Given the description of an element on the screen output the (x, y) to click on. 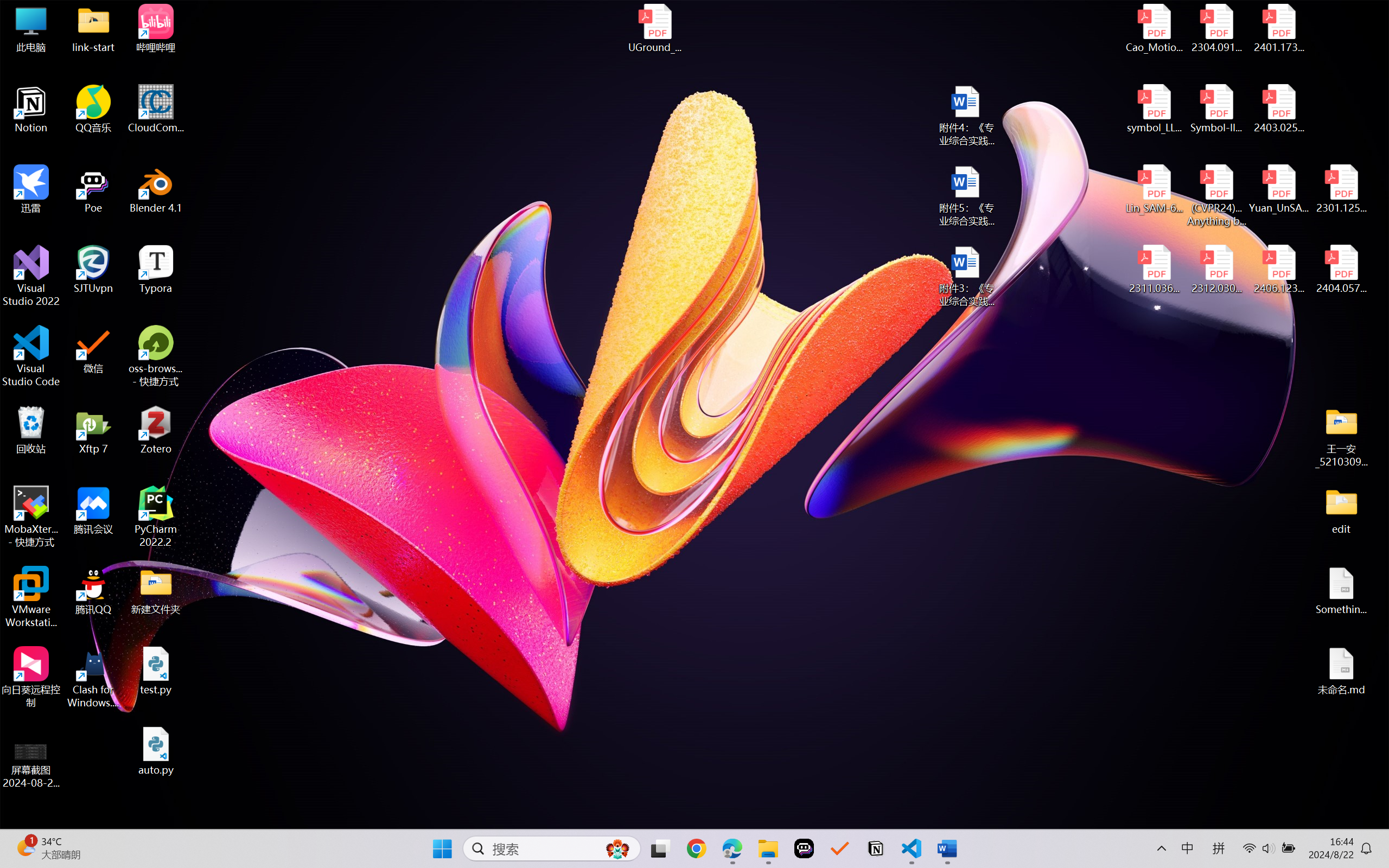
symbol_LLM.pdf (1154, 109)
UGround_paper.pdf (654, 28)
Something.md (1340, 591)
Google Chrome (696, 848)
Visual Studio 2022 (31, 276)
